Given the description of an element on the screen output the (x, y) to click on. 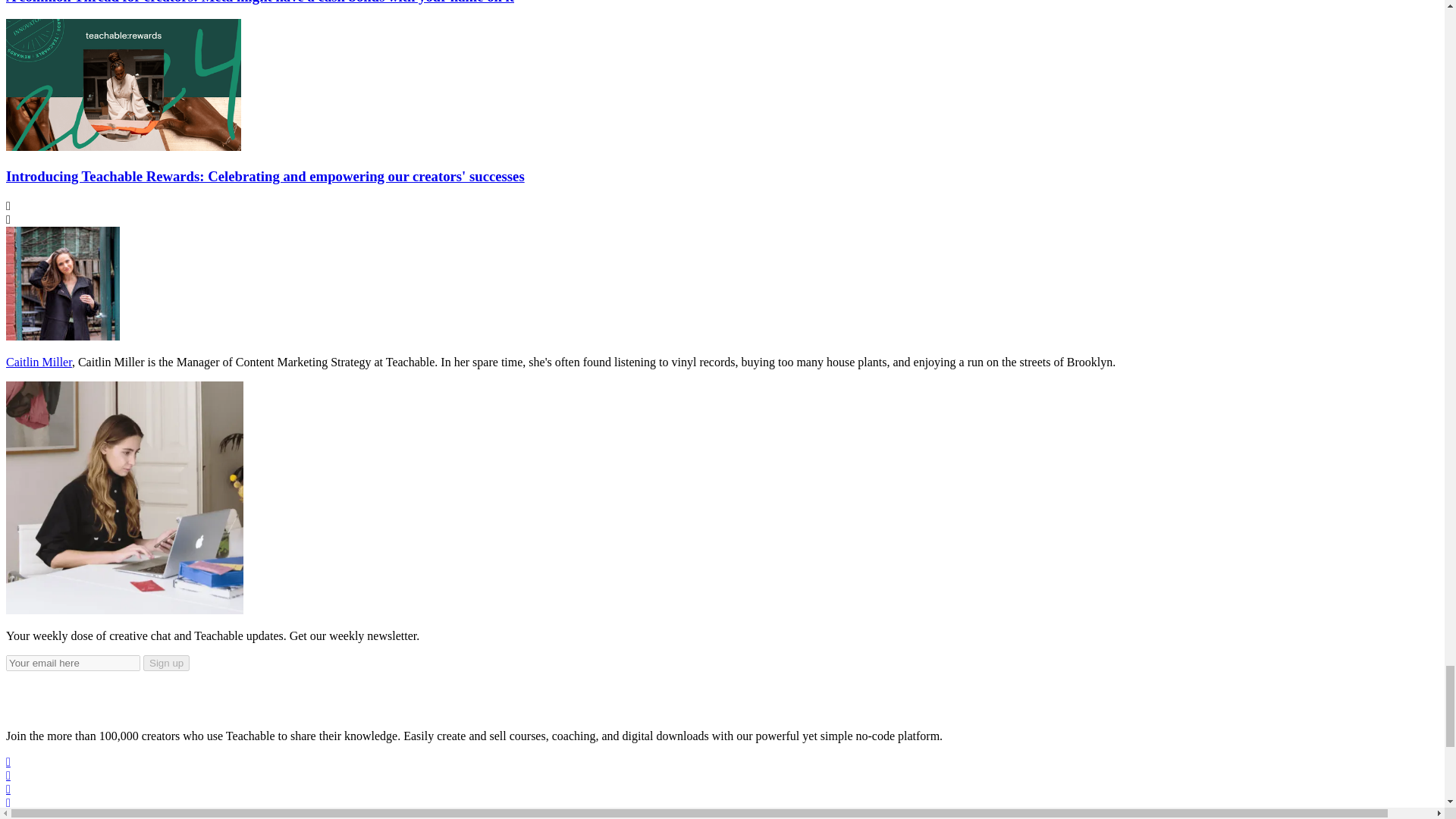
Sign up (165, 662)
